Given the description of an element on the screen output the (x, y) to click on. 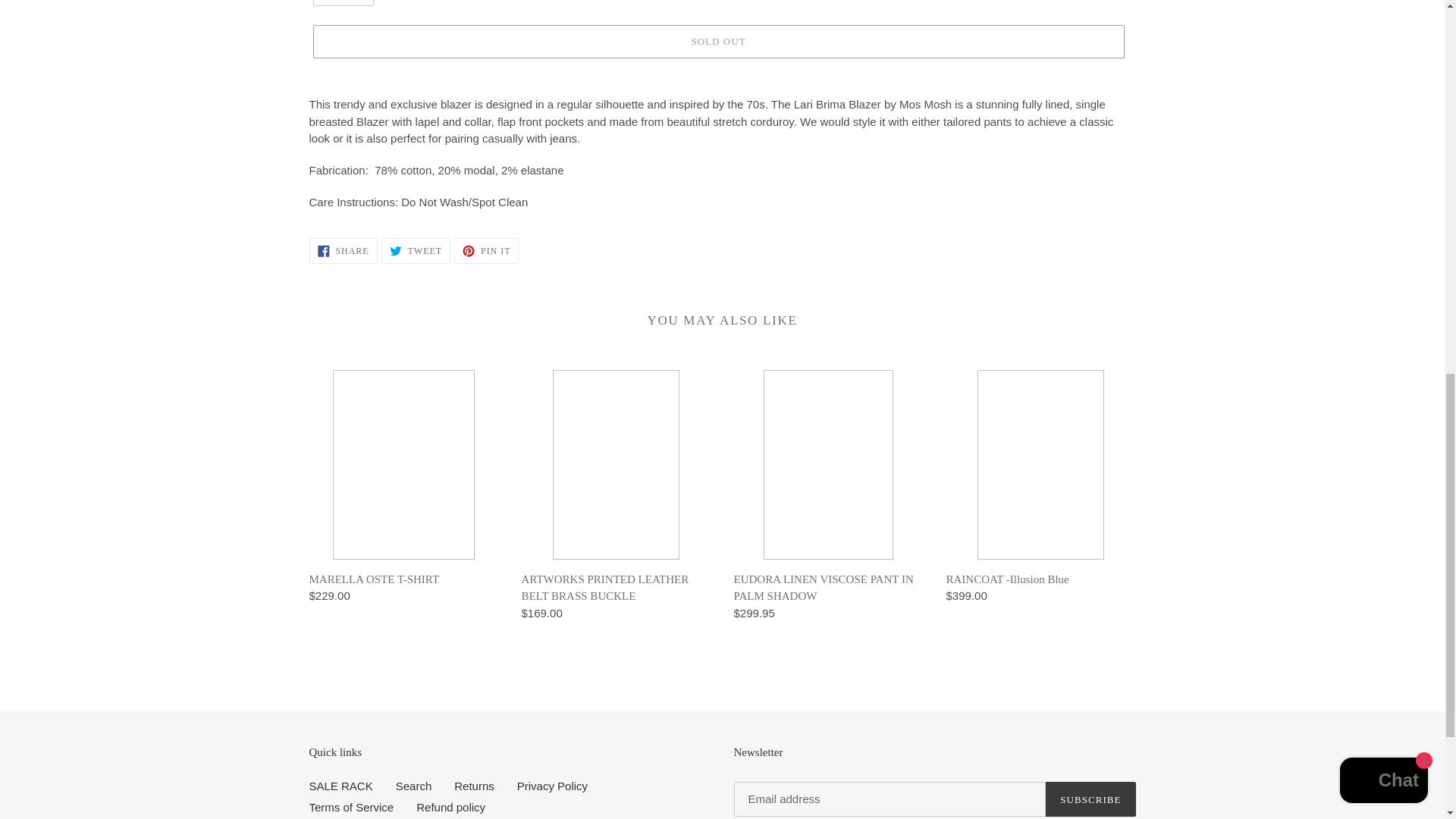
1 (342, 2)
